Given the description of an element on the screen output the (x, y) to click on. 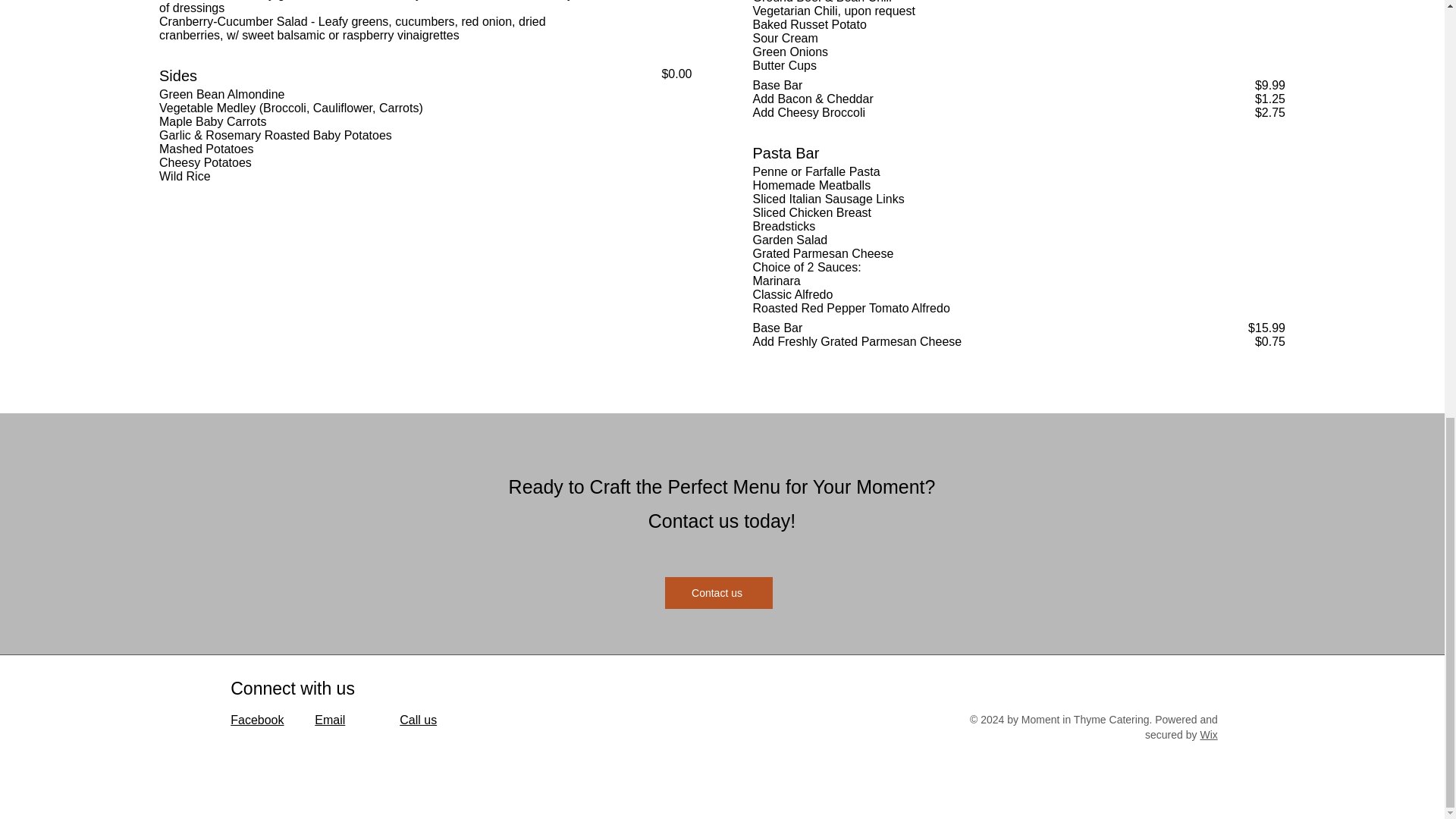
Call us (417, 719)
Facebook (256, 719)
Contact us (717, 593)
Wix (1208, 734)
Email (329, 719)
